Given the description of an element on the screen output the (x, y) to click on. 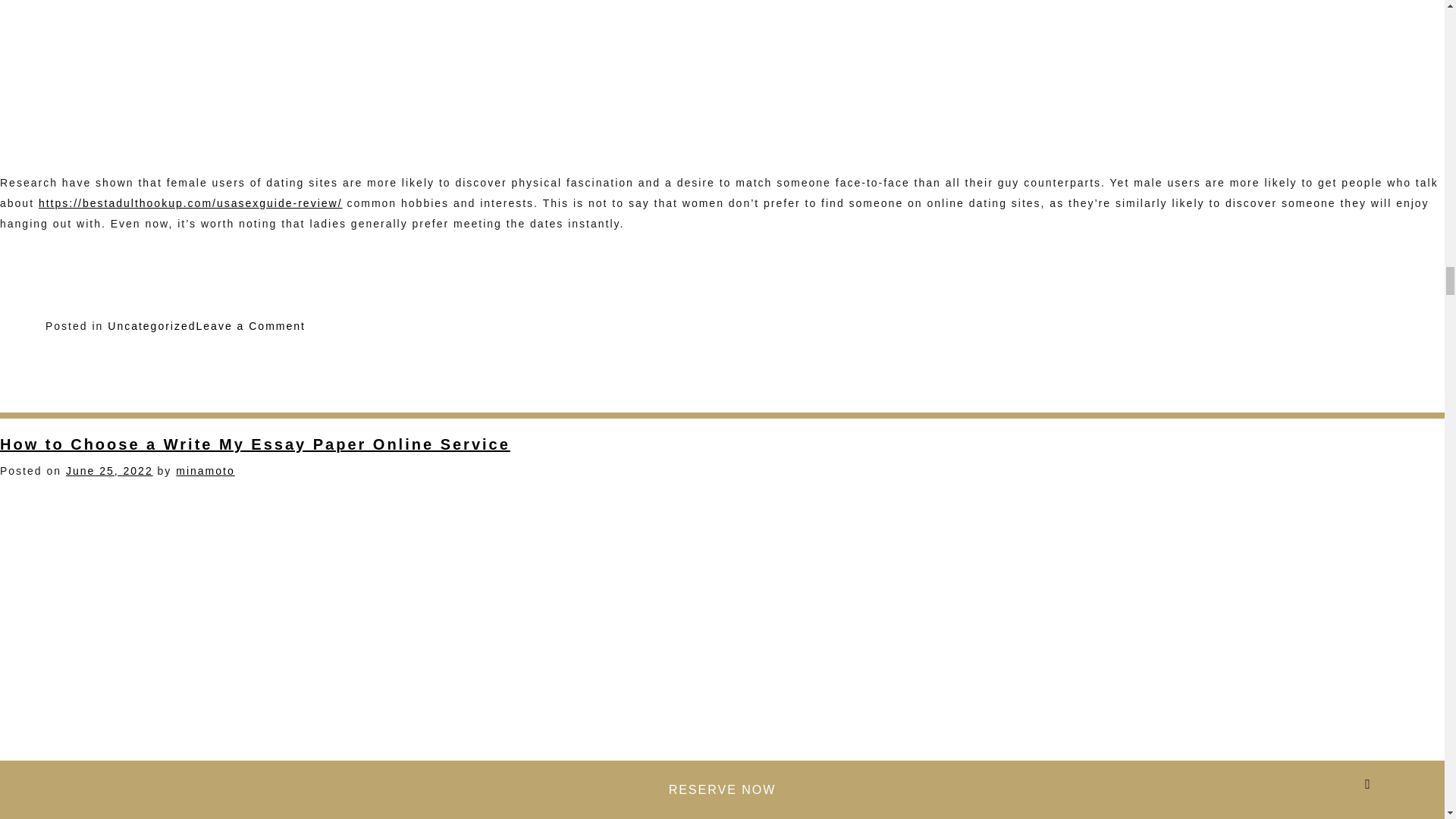
minamoto (205, 470)
Uncategorized (151, 326)
How to Choose a Write My Essay Paper Online Service (255, 443)
June 25, 2022 (108, 470)
